Given the description of an element on the screen output the (x, y) to click on. 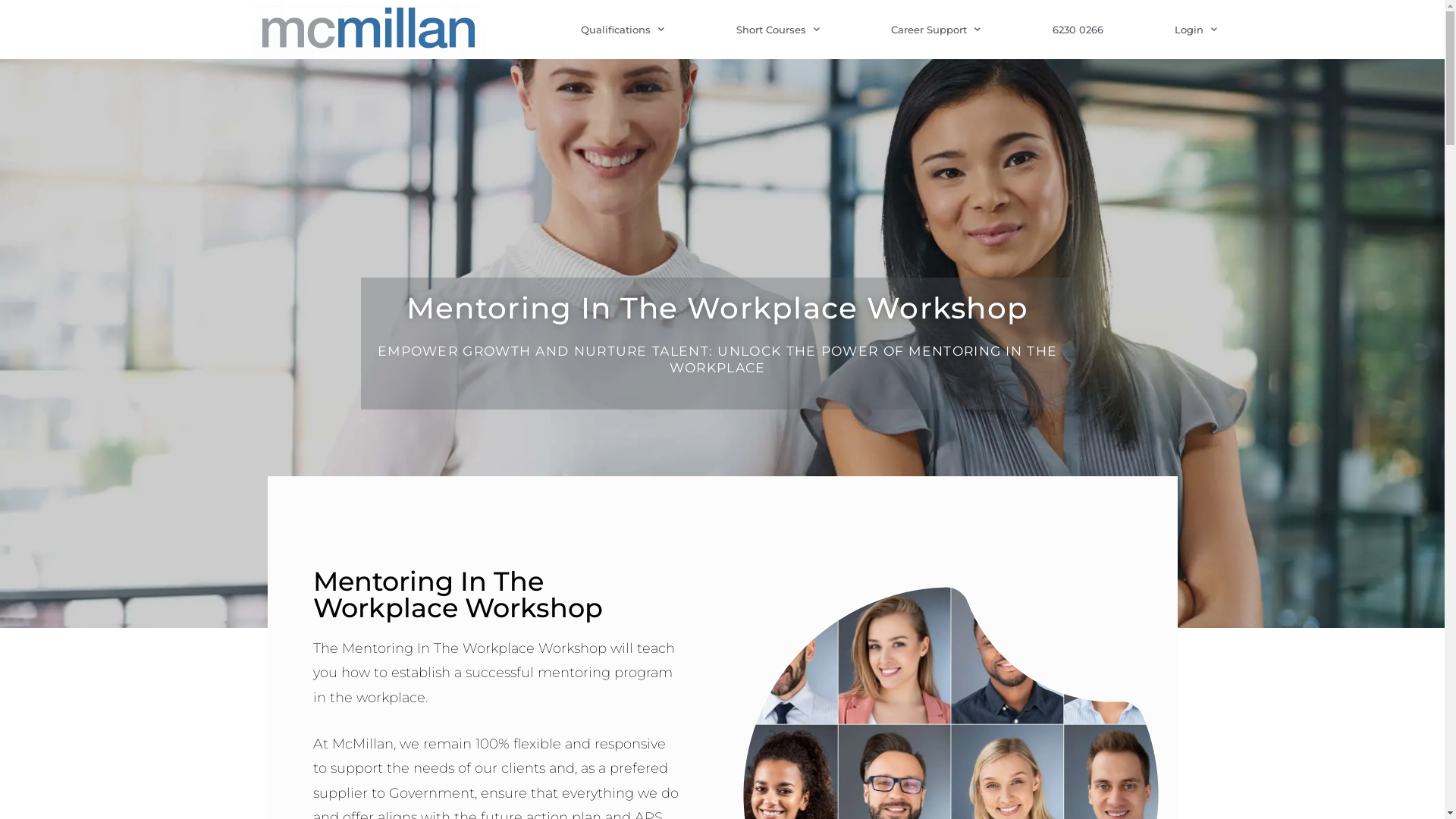
Qualifications Element type: text (622, 29)
Login Element type: text (1195, 29)
Career Support Element type: text (935, 29)
6230 0266 Element type: text (1077, 29)
McMillan logo PNG - McMillan Staff Development Element type: hover (368, 29)
Short Courses Element type: text (777, 29)
